Given the description of an element on the screen output the (x, y) to click on. 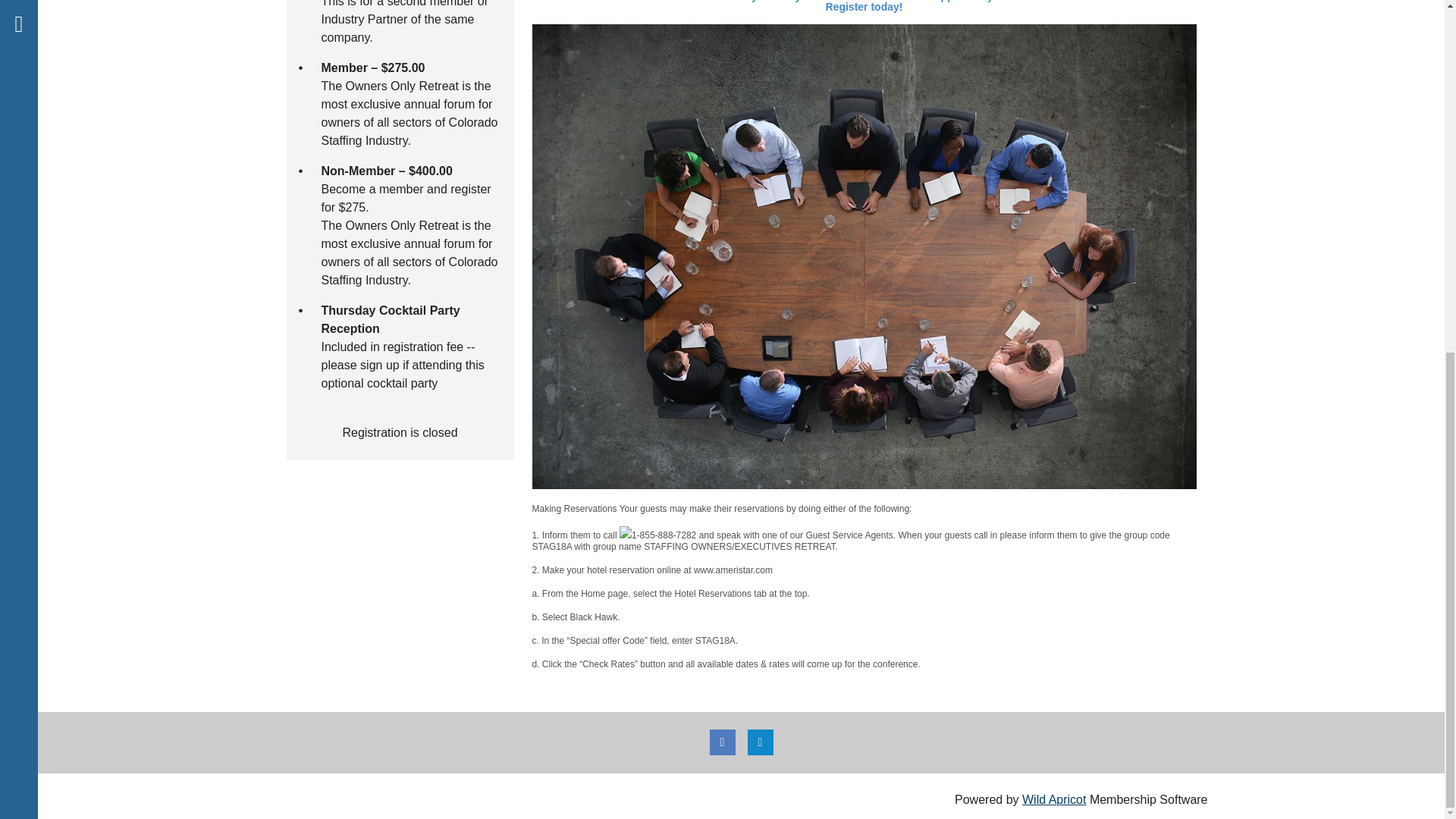
Wild Apricot (1054, 799)
